Given the description of an element on the screen output the (x, y) to click on. 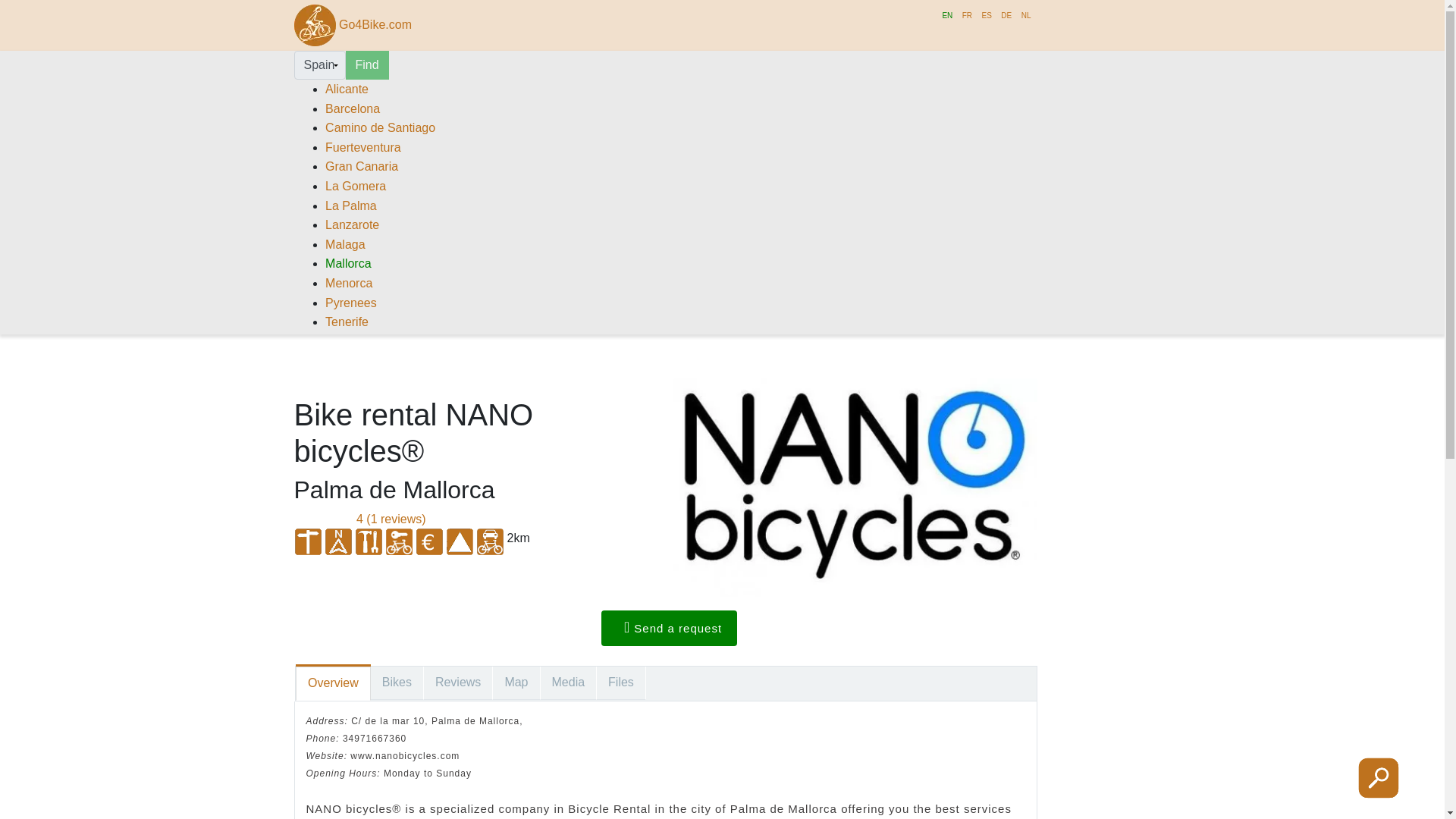
Pyrenees (350, 302)
Bicycle repair (368, 541)
La Gomera (354, 185)
Go4Bike (315, 24)
Media (568, 683)
Overview (333, 683)
Files (621, 683)
Long term rentals available (398, 541)
Camino de Santiago (379, 127)
Tenerife (346, 321)
FR (967, 15)
Bikes (397, 683)
ES (986, 15)
Mountainbike routes nearby (308, 541)
DE (1006, 15)
